Given the description of an element on the screen output the (x, y) to click on. 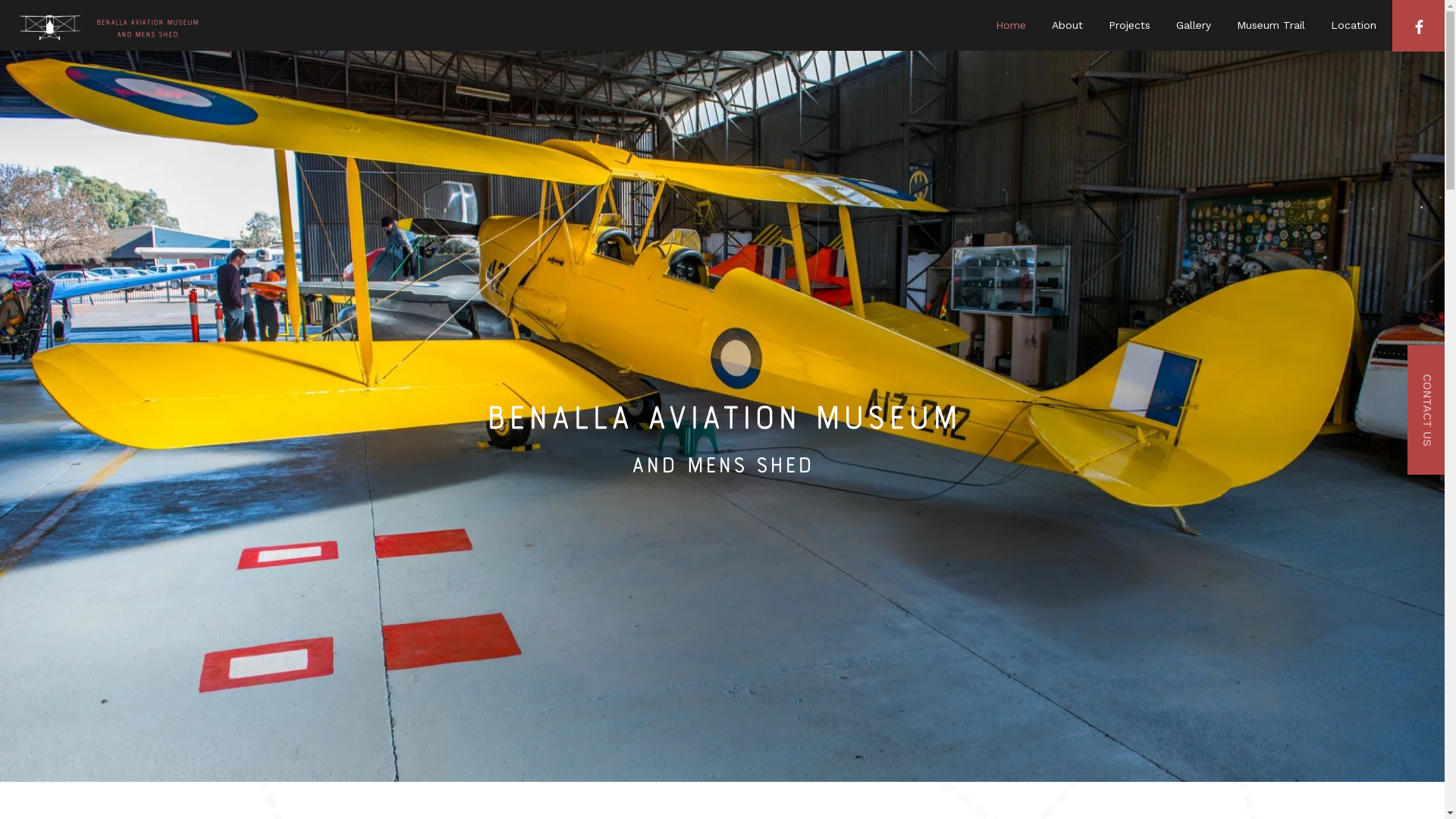
Home Element type: text (1010, 25)
Gallery Element type: text (1193, 25)
Museum Trail Element type: text (1270, 25)
Projects Element type: text (1129, 25)
About Element type: text (1066, 25)
Location Element type: text (1353, 25)
